Given the description of an element on the screen output the (x, y) to click on. 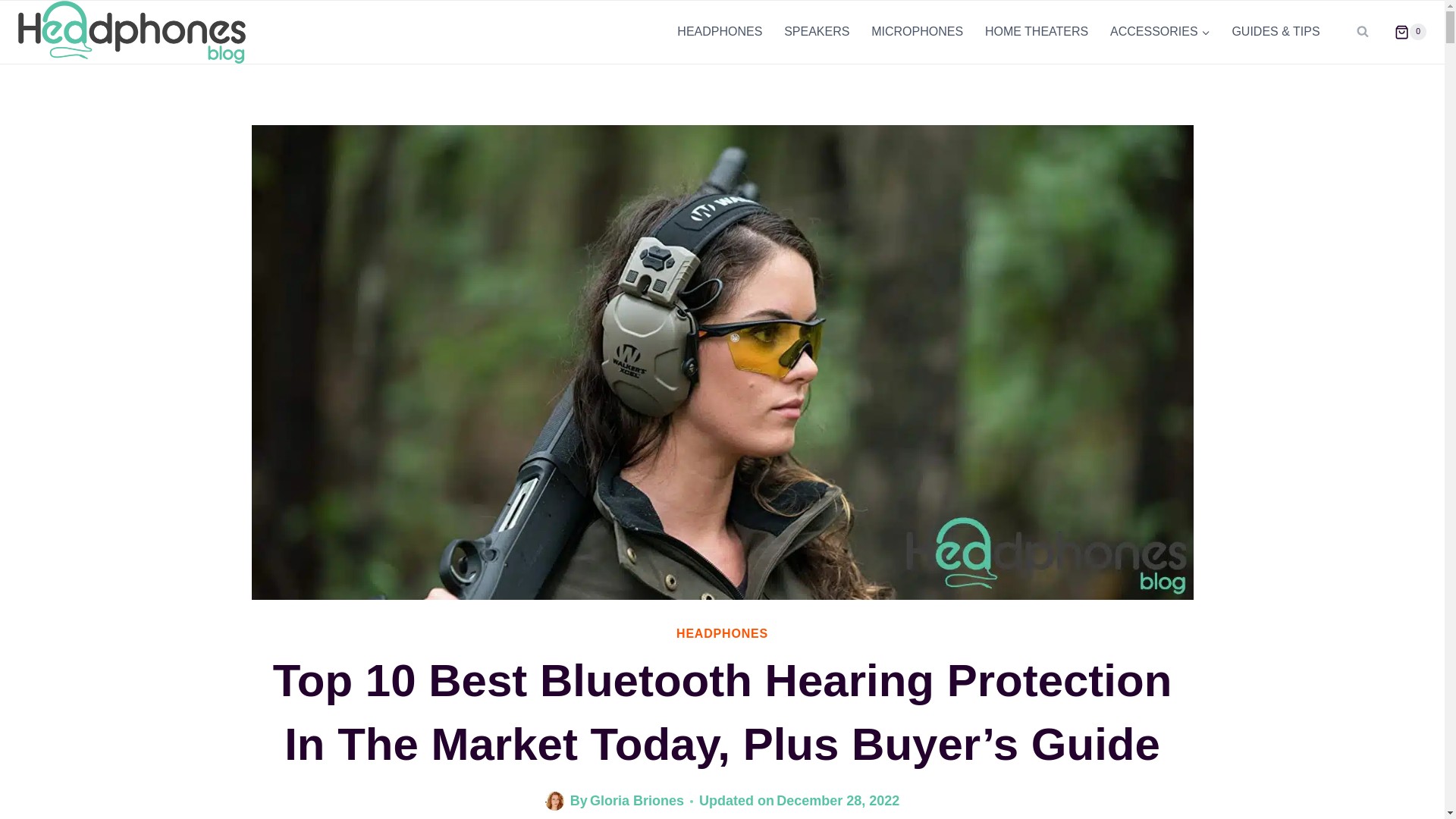
0 (1403, 31)
SPEAKERS (816, 32)
Gloria Briones (636, 800)
ACCESSORIES (1160, 32)
MICROPHONES (917, 32)
HEADPHONES (722, 633)
HEADPHONES (719, 32)
HOME THEATERS (1036, 32)
